Given the description of an element on the screen output the (x, y) to click on. 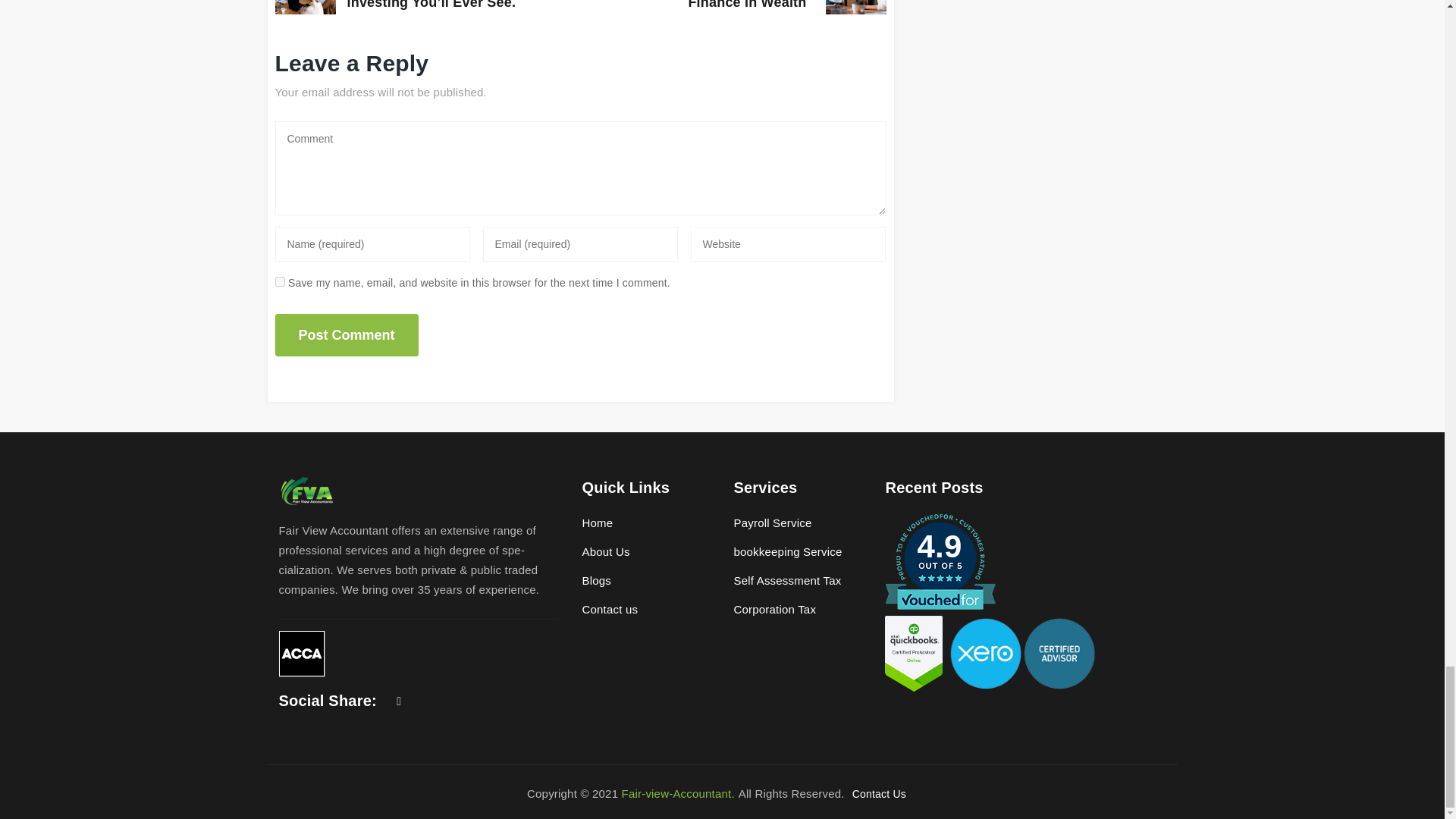
Shahzad Khan accountant ratings on VouchedFor (940, 560)
yes (279, 280)
